Given the description of an element on the screen output the (x, y) to click on. 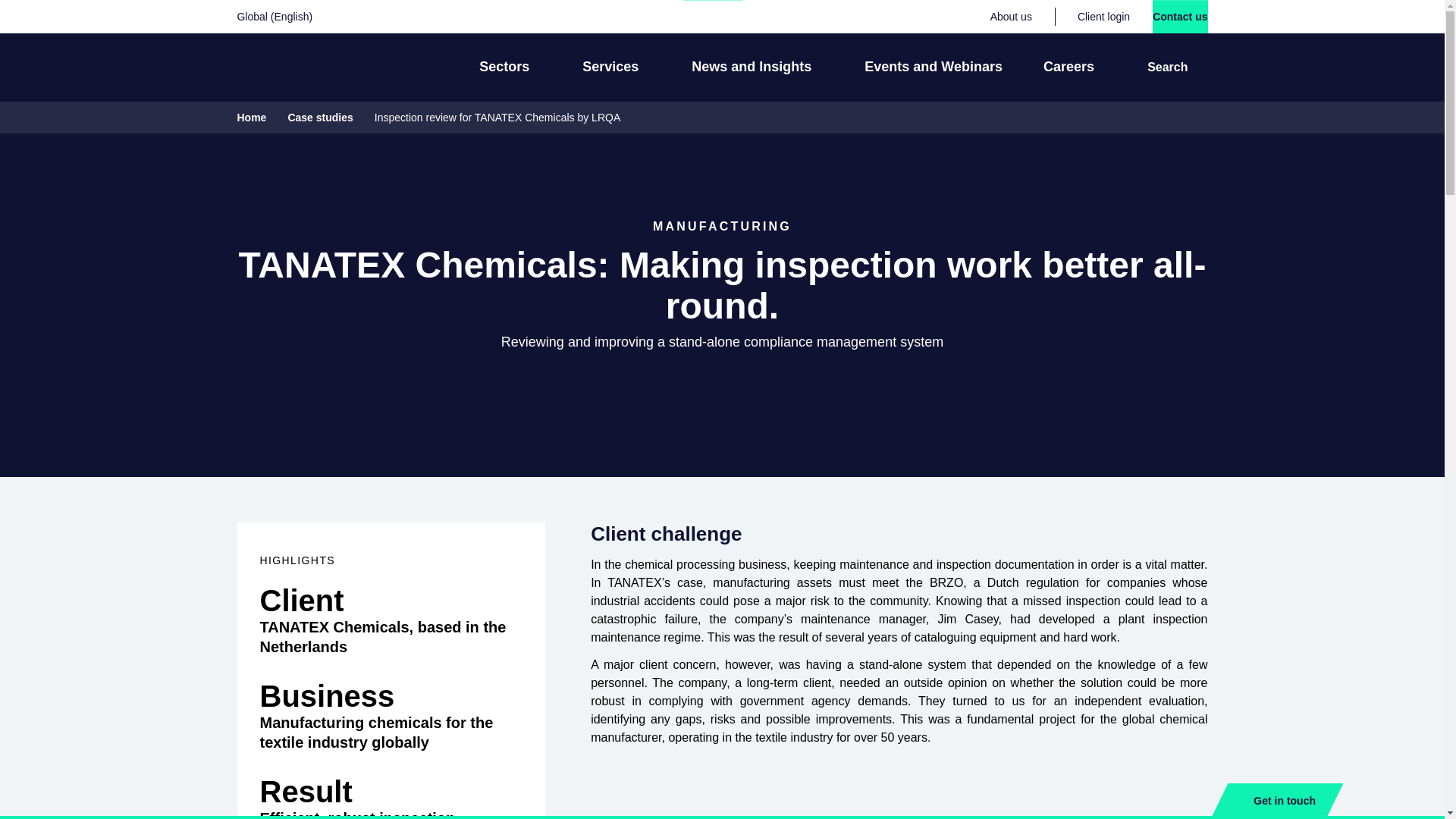
Services (616, 67)
Sectors (510, 67)
Client login (1103, 16)
Contact us (1180, 16)
About us (1011, 16)
